Given the description of an element on the screen output the (x, y) to click on. 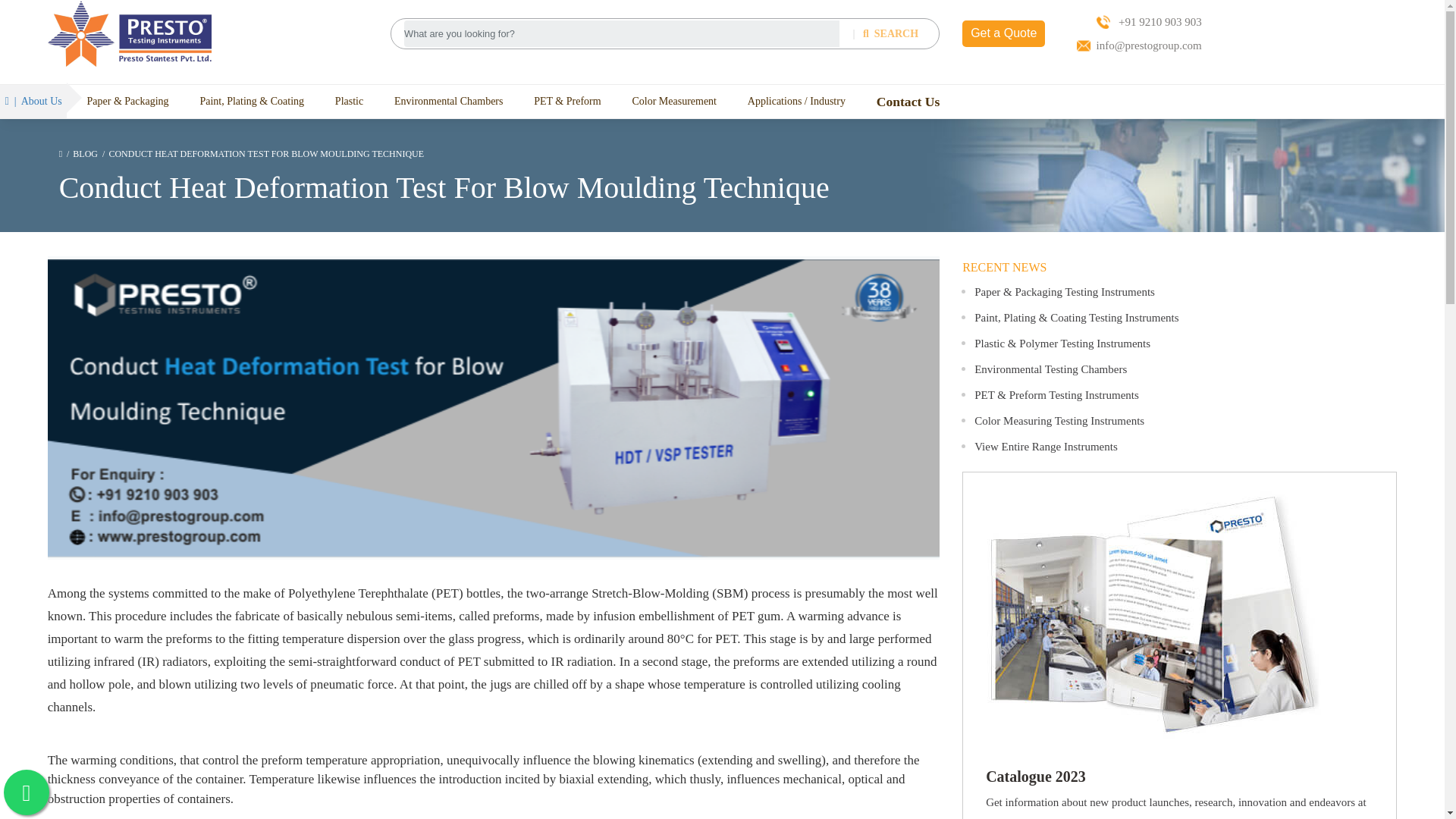
Plastic (349, 100)
Opens a widget where you can chat to one of our agents (1386, 792)
Environmental Chambers (448, 100)
Color Measurement (674, 100)
Get a Quote (1003, 33)
Contact Us (908, 101)
